Given the description of an element on the screen output the (x, y) to click on. 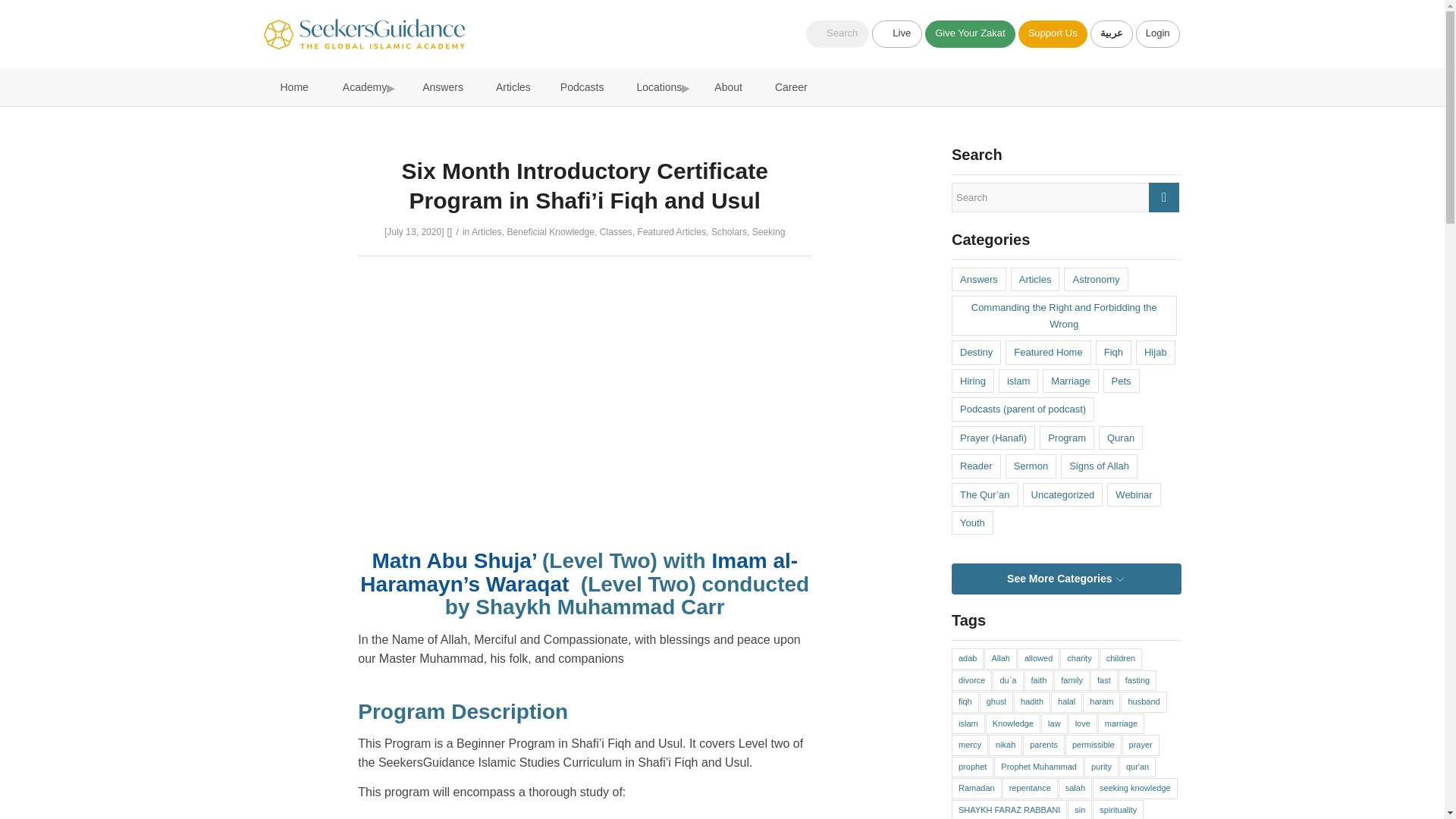
Podcasts (581, 86)
Support Us (1052, 33)
Home (290, 86)
Classes (615, 231)
Scholars (728, 231)
Articles (486, 231)
Login (1157, 33)
Give Your Zakat (969, 33)
Articles (510, 86)
Academy (361, 86)
